Given the description of an element on the screen output the (x, y) to click on. 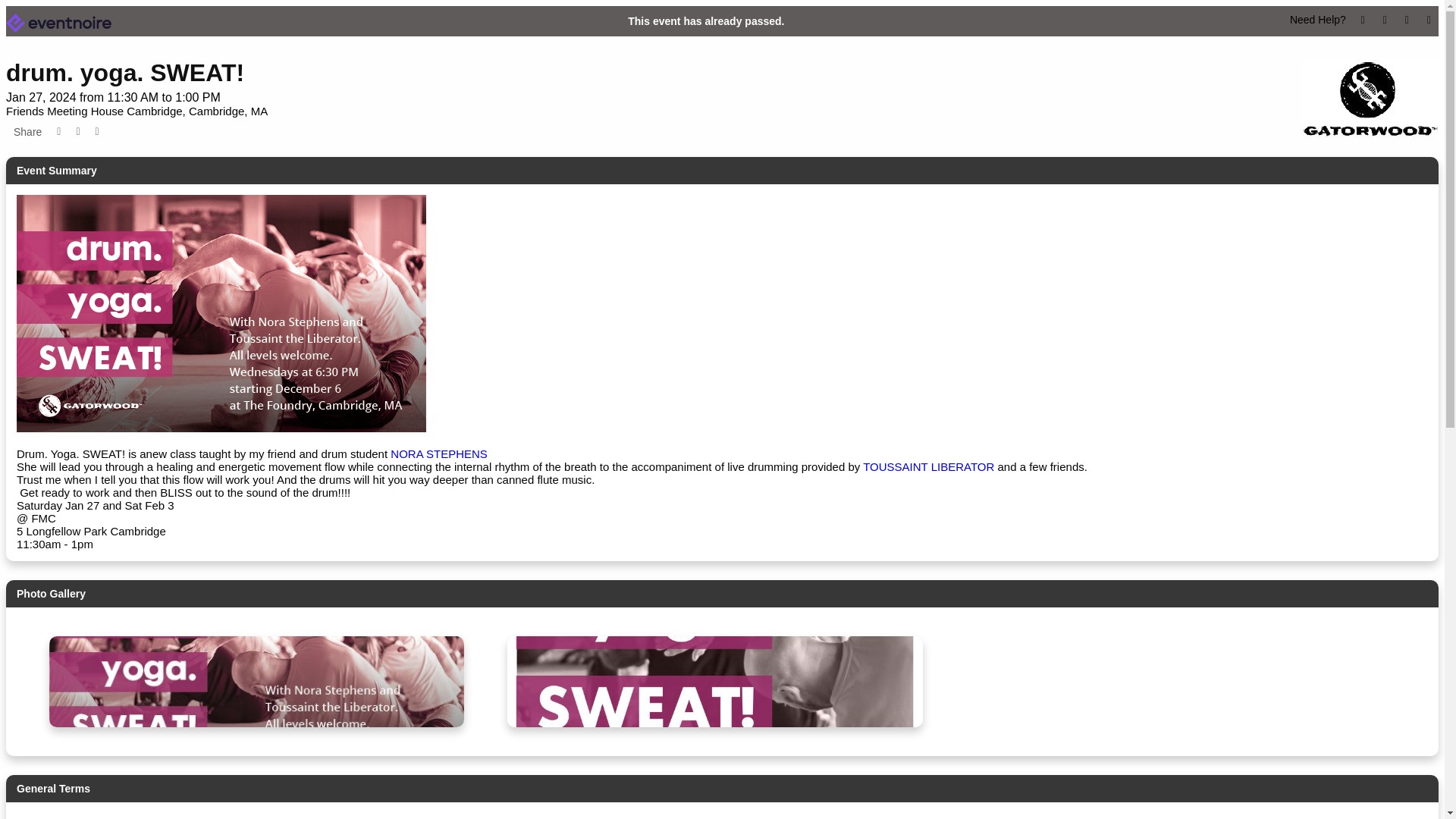
TOUSSAINT LIBERATOR  (930, 466)
drum. yoga. SWEAT! (124, 72)
Share this page on Twitter (77, 131)
Share this page on Facebook (58, 131)
Share this page on LinkedIn (96, 131)
NORA STEPHENS  (440, 453)
NORA STEPHENS (440, 453)
Need Help? (1317, 19)
